Given the description of an element on the screen output the (x, y) to click on. 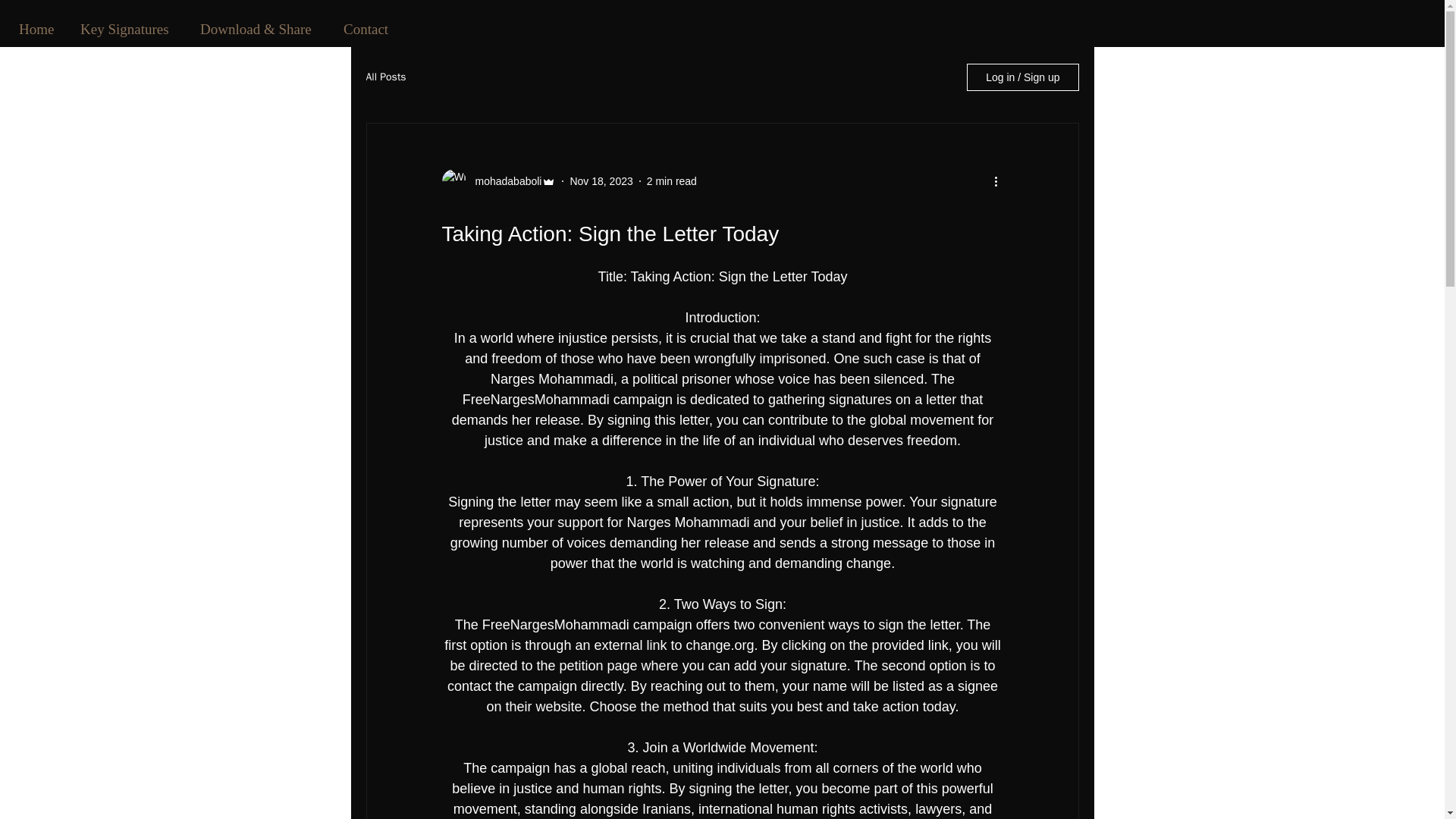
mohadababoli (503, 180)
Contact (367, 27)
Nov 18, 2023 (600, 180)
Key Signatures (128, 27)
2 min read (671, 180)
All Posts (385, 77)
Home (37, 27)
